Given the description of an element on the screen output the (x, y) to click on. 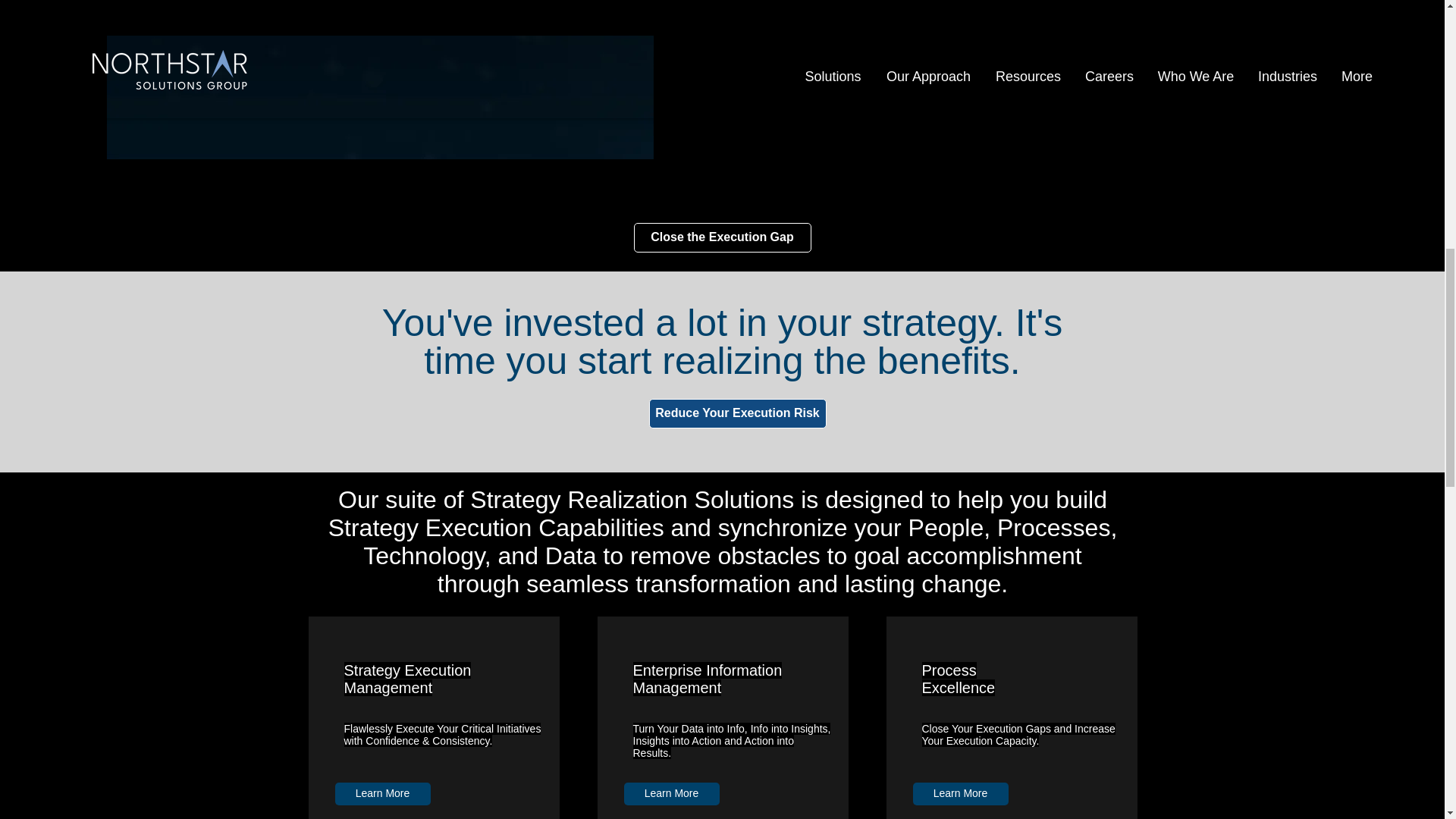
Learn More (960, 793)
Learn More (671, 793)
Learn More (382, 793)
Reduce Your Execution Risk (738, 413)
Close the Execution Gap (721, 237)
